Given the description of an element on the screen output the (x, y) to click on. 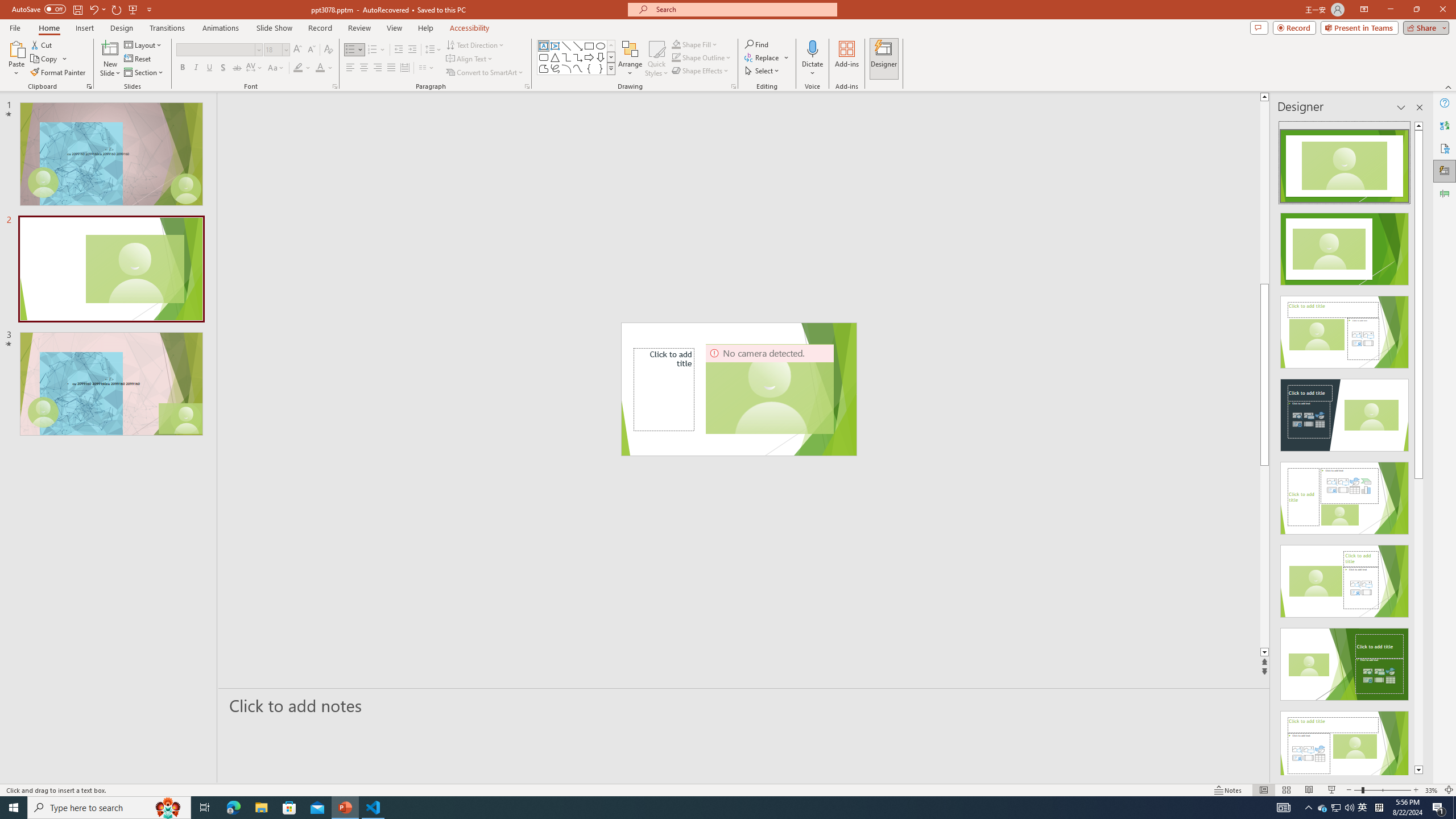
Zoom 33% (1431, 790)
Animation Pane (1444, 193)
